Given the description of an element on the screen output the (x, y) to click on. 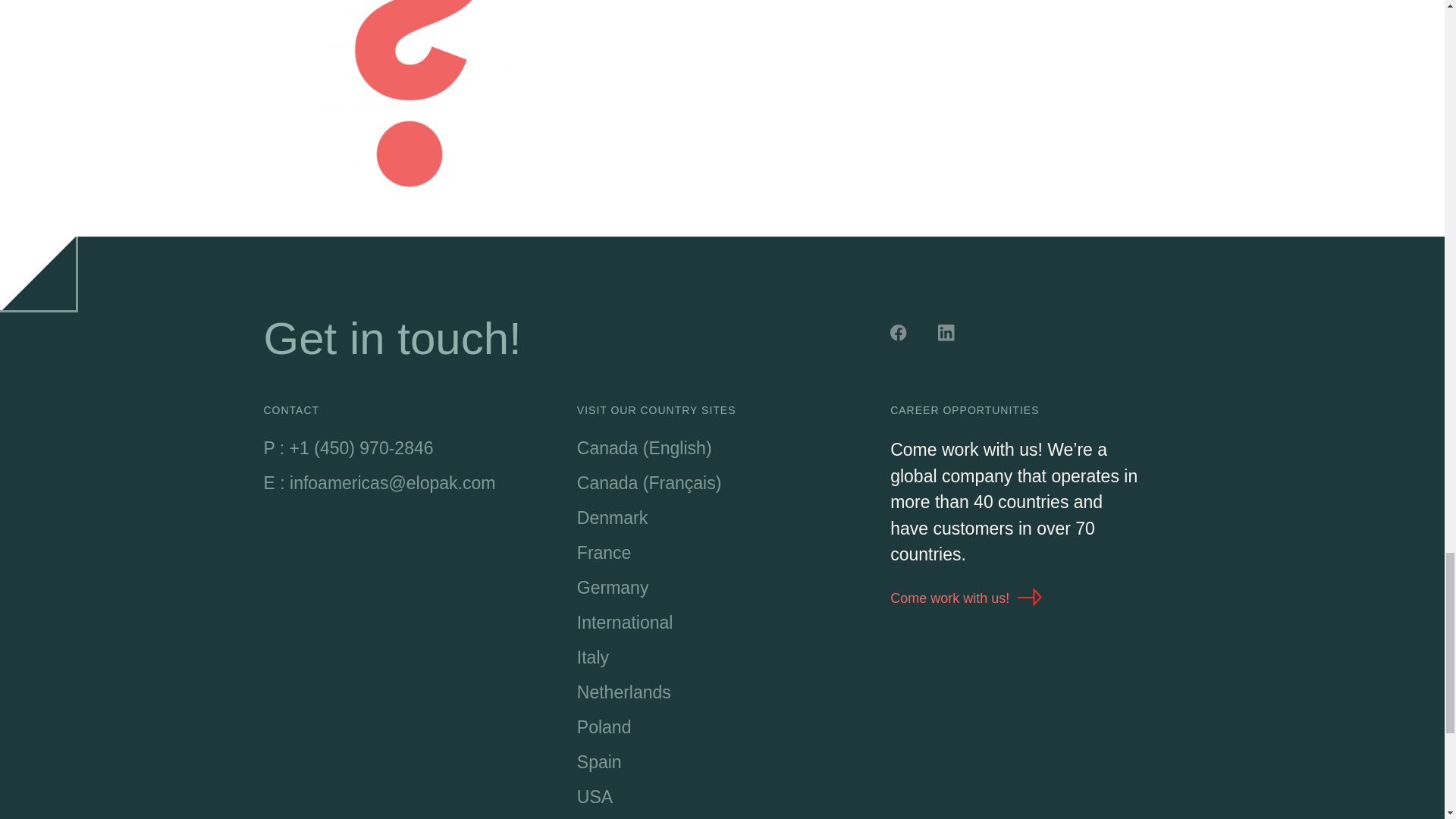
Facebook-icon (900, 334)
LinkedIn (948, 334)
